Given the description of an element on the screen output the (x, y) to click on. 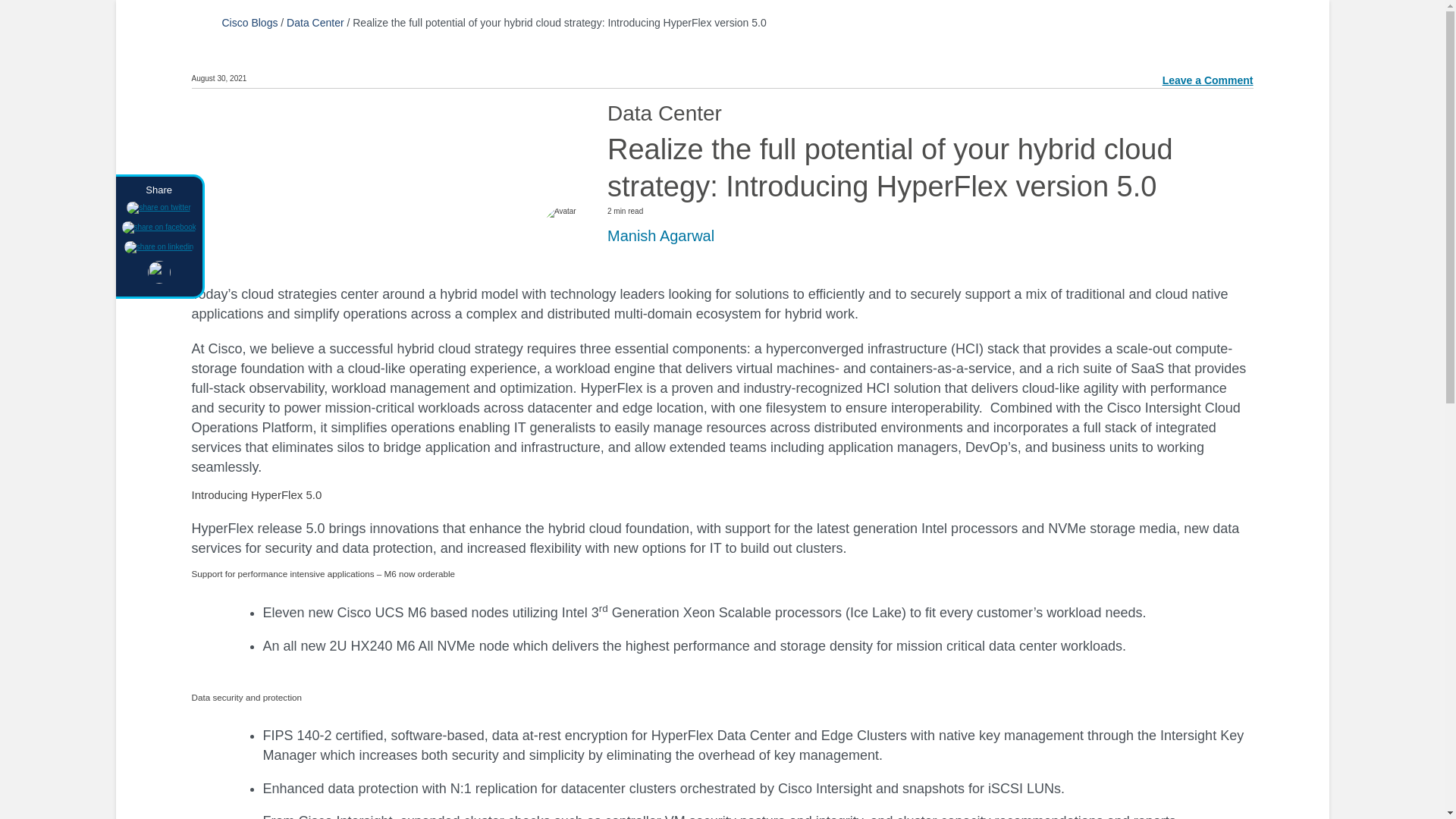
Posts by Manish Agarwal (660, 235)
Cisco Blogs (249, 22)
Manish Agarwal (660, 235)
Data Center (314, 22)
